Given the description of an element on the screen output the (x, y) to click on. 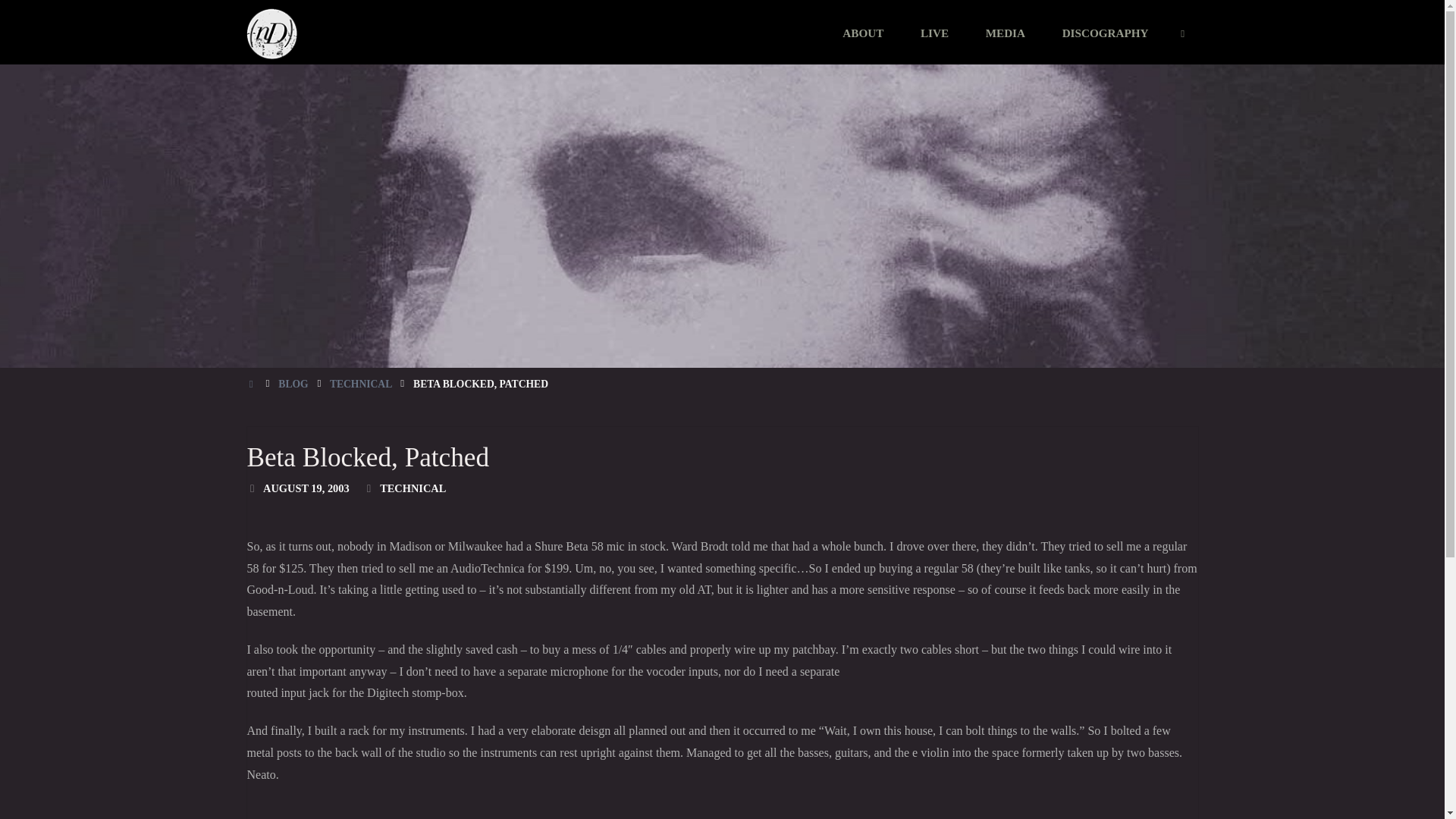
The Emerald Age (349, 41)
NULL DEVICE (349, 41)
Skip to content (842, 63)
Date (252, 488)
DISCOGRAPHY (1105, 32)
Skip to content (842, 63)
LIVE (935, 32)
TECHNICAL (412, 488)
ABOUT (863, 32)
Categories (368, 488)
Home (252, 383)
SEARCH (1182, 33)
TECHNICAL (360, 383)
Null Device (271, 32)
BLOG (292, 383)
